Given the description of an element on the screen output the (x, y) to click on. 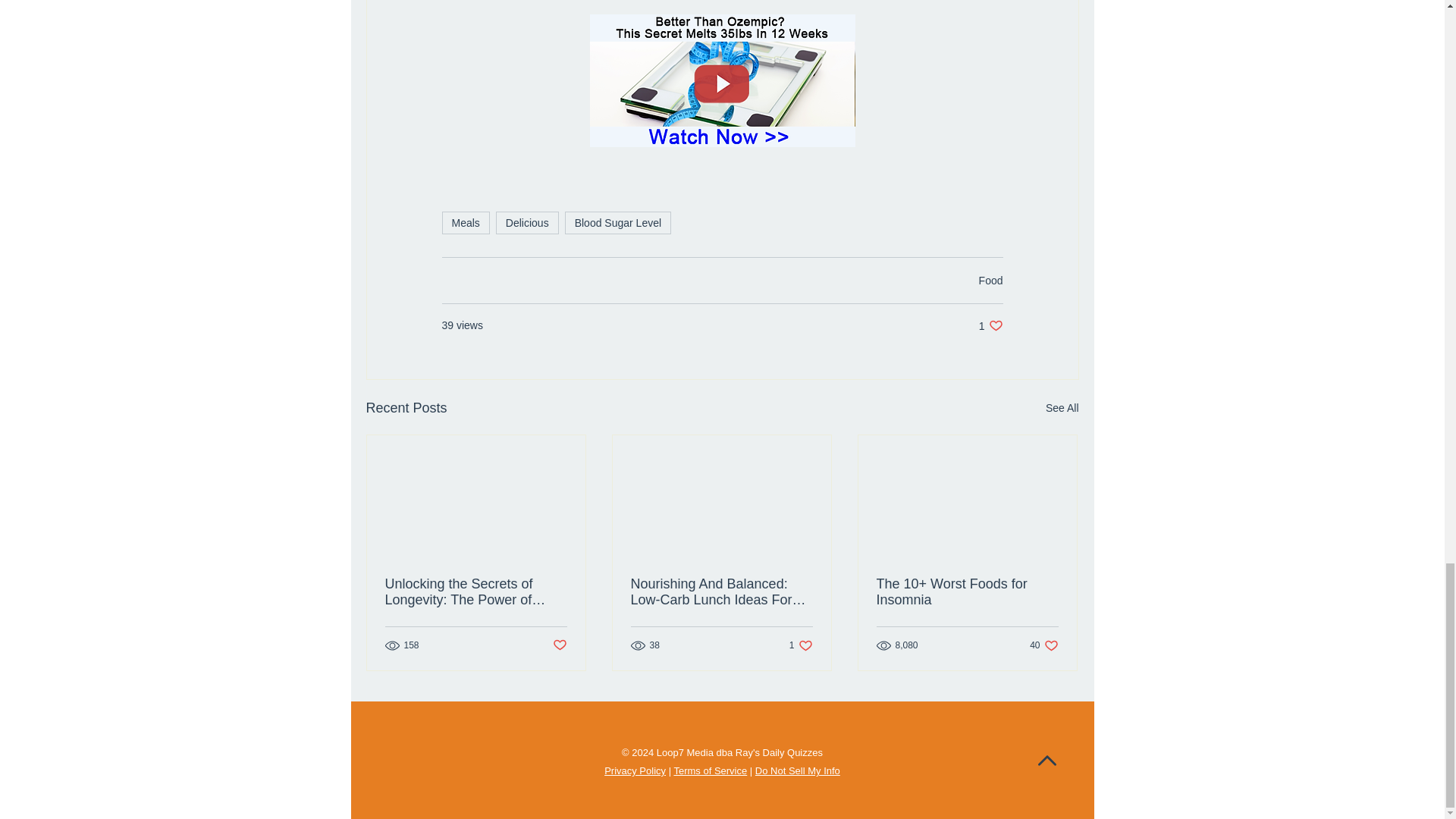
Blood Sugar Level (1043, 645)
Meals (617, 222)
Post not marked as liked (465, 222)
See All (558, 644)
Delicious (1061, 408)
Food (527, 222)
